Given the description of an element on the screen output the (x, y) to click on. 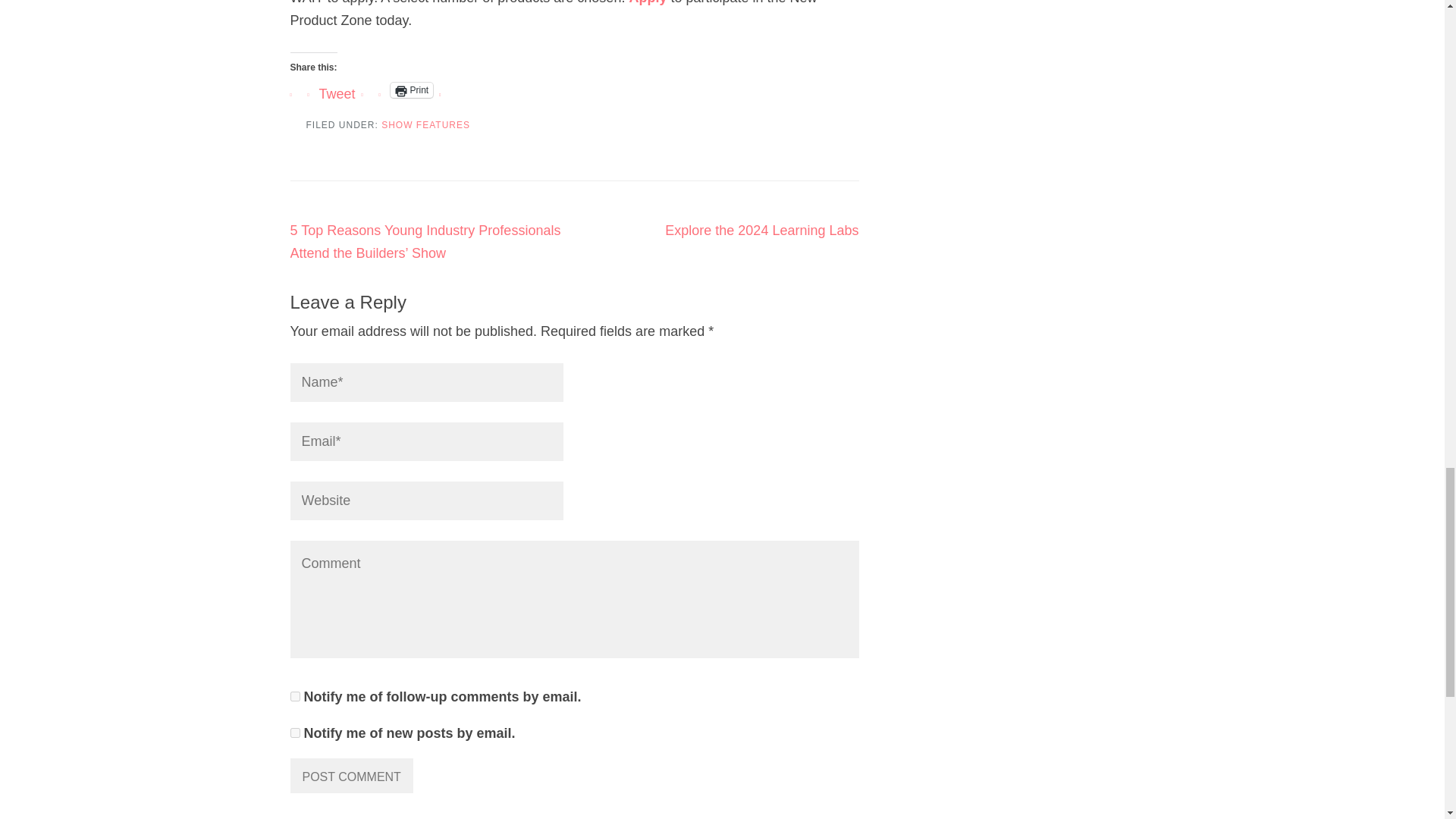
subscribe (294, 732)
Explore the 2024 Learning Labs (762, 230)
POST COMMENT (350, 775)
Click to print (411, 89)
POST COMMENT (350, 775)
SHOW FEATURES (425, 124)
Tweet (336, 89)
subscribe (294, 696)
Print (411, 89)
Apply (647, 2)
